Given the description of an element on the screen output the (x, y) to click on. 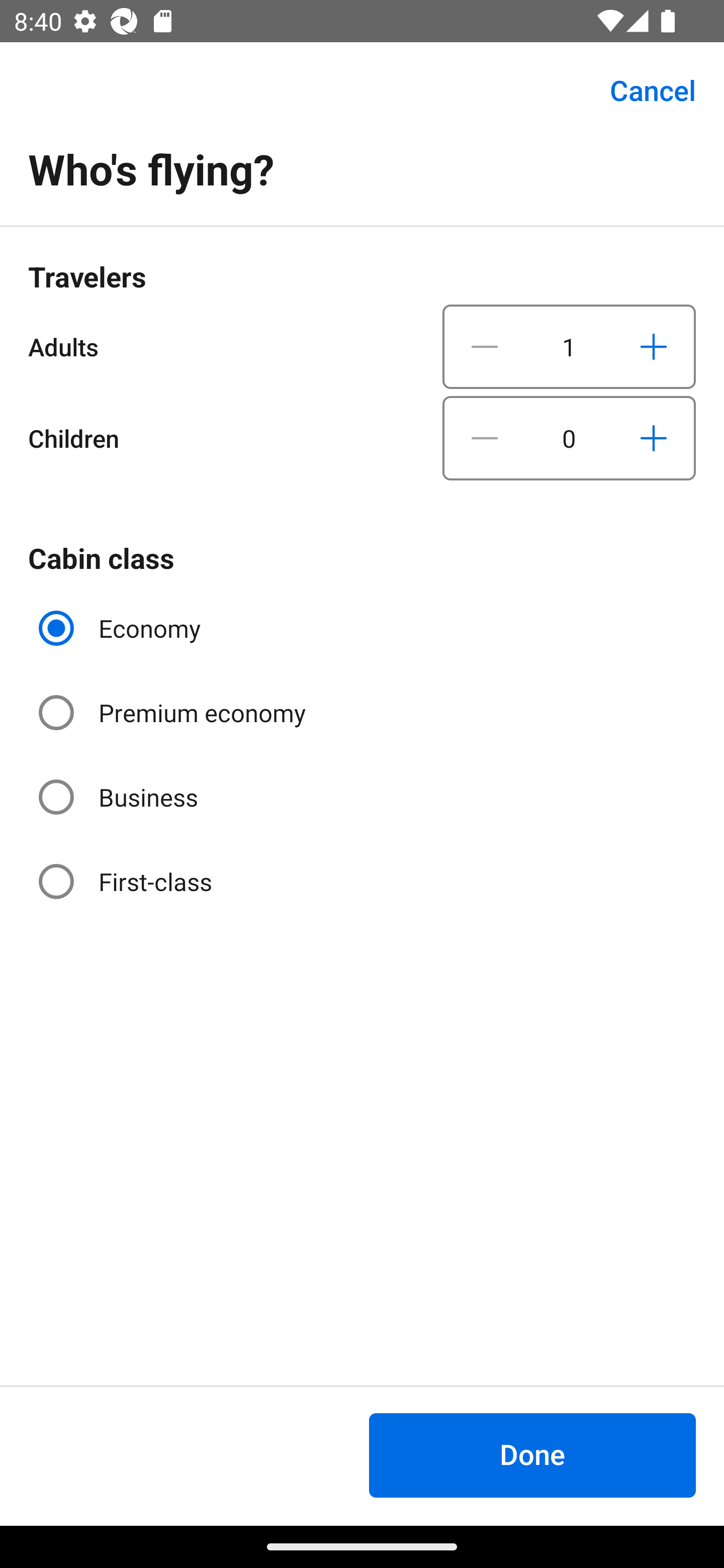
Cancel (641, 90)
Decrease (484, 346)
Increase (653, 346)
Decrease (484, 437)
Increase (653, 437)
Economy (121, 628)
Premium economy (174, 712)
Business (120, 796)
First-class (126, 880)
Done (532, 1454)
